Given the description of an element on the screen output the (x, y) to click on. 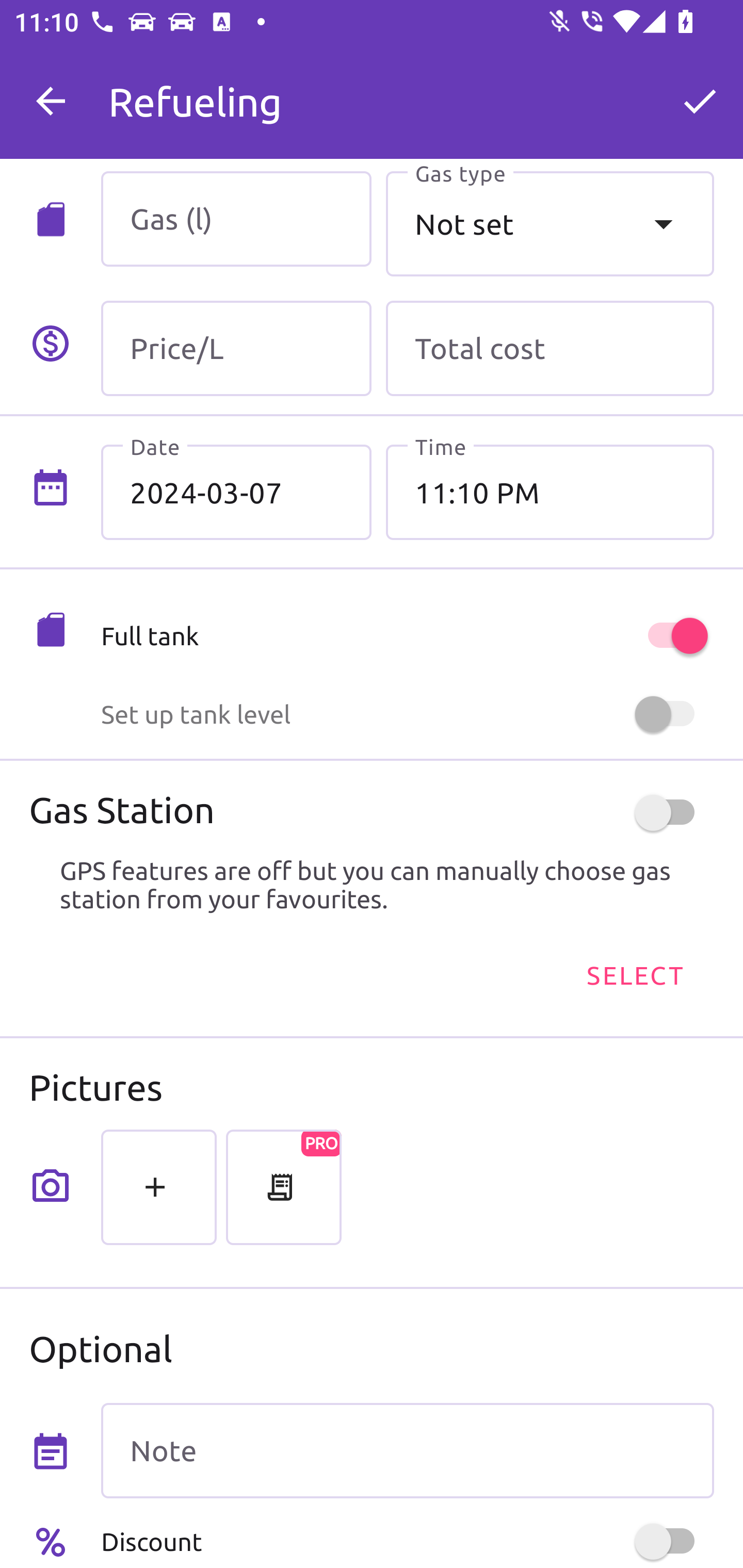
A No name 0 km (407, 92)
Navigate up (50, 101)
OK (699, 101)
Gas (l) (236, 218)
Not set (549, 222)
Price/L (236, 348)
Total cost  (549, 348)
2024-03-07 (236, 492)
11:10 PM (549, 492)
Full tank (407, 635)
Set up tank level (407, 713)
SELECT (634, 974)
Note (407, 1451)
Discount (407, 1541)
